Given the description of an element on the screen output the (x, y) to click on. 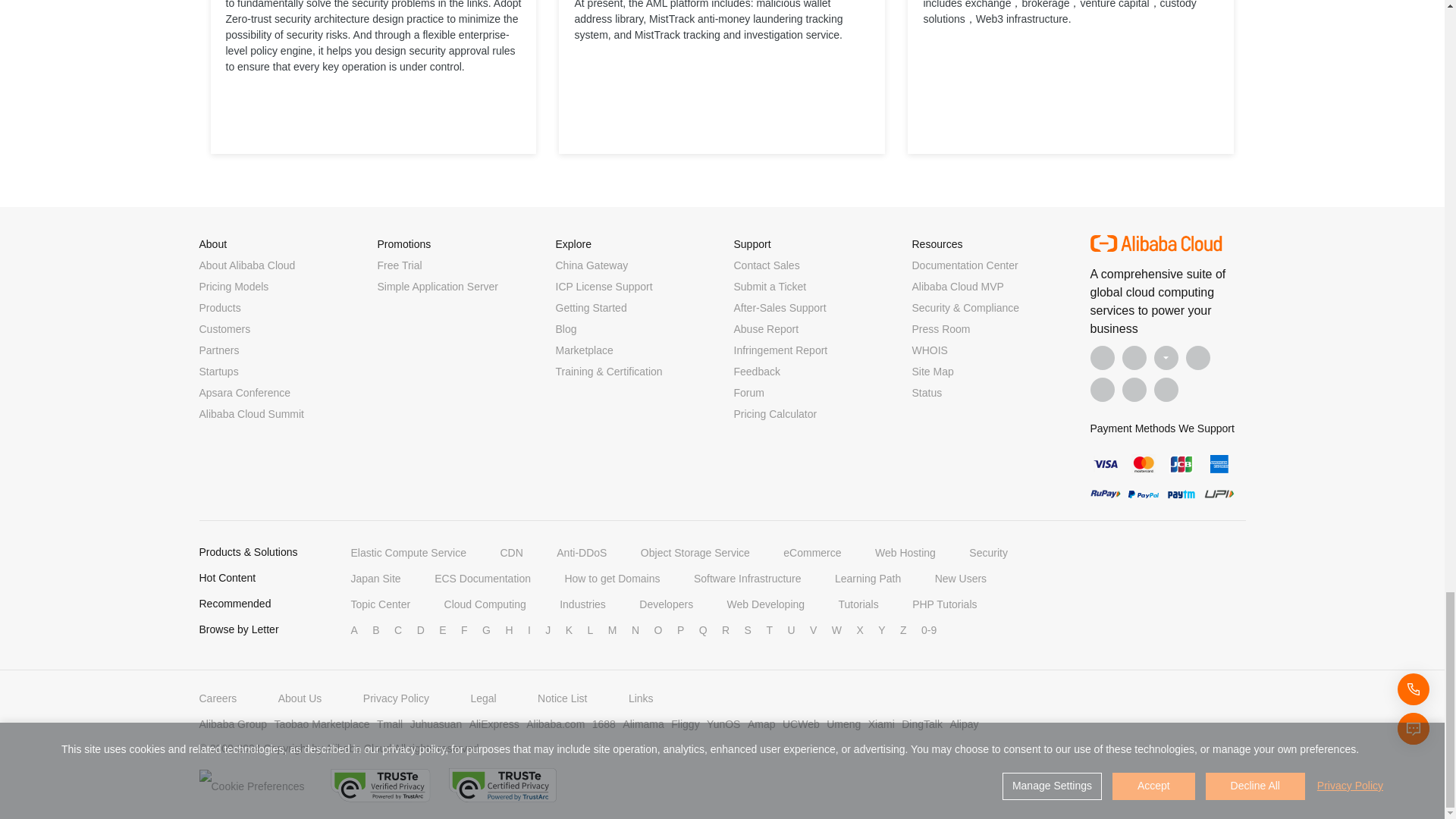
TikTok (1102, 389)
YouTube (1197, 357)
Call Us Now (1165, 389)
Twitter (1165, 357)
Linkedin (1134, 357)
Facebook (1102, 357)
